Given the description of an element on the screen output the (x, y) to click on. 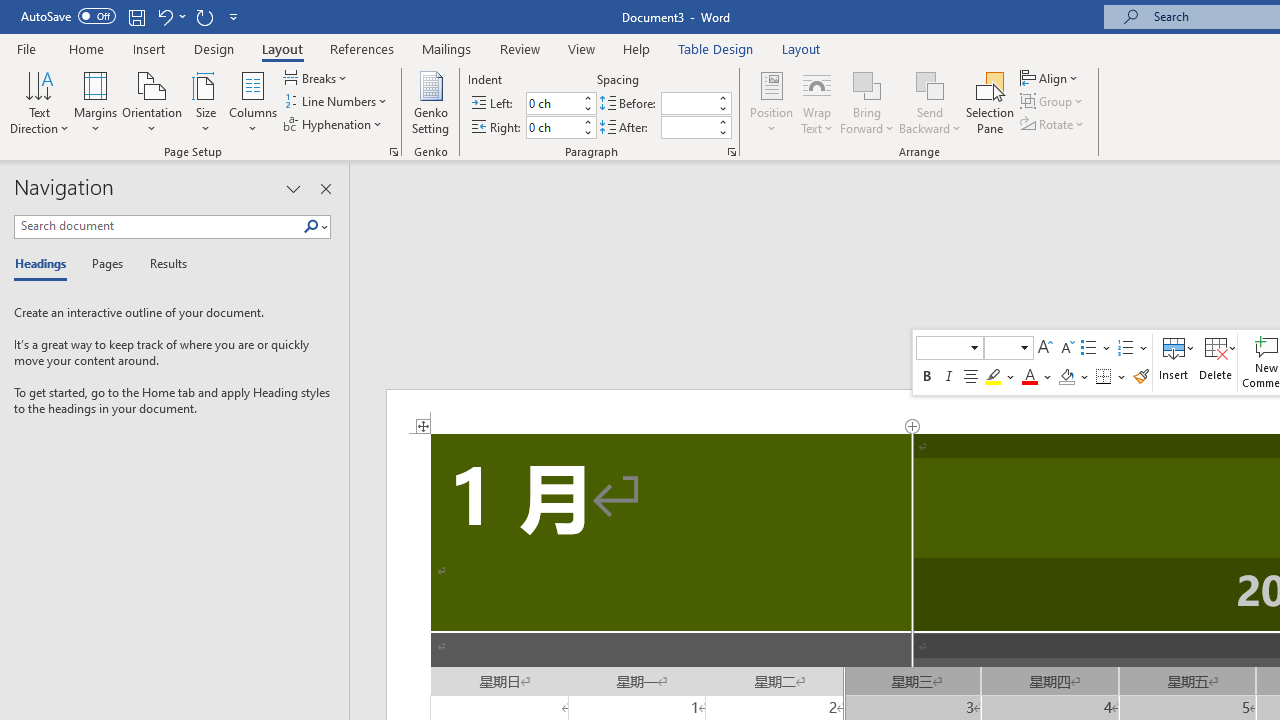
Rotate (1053, 124)
Send Backward (930, 102)
Class: NetUIComboboxAnchor (1009, 348)
